Given the description of an element on the screen output the (x, y) to click on. 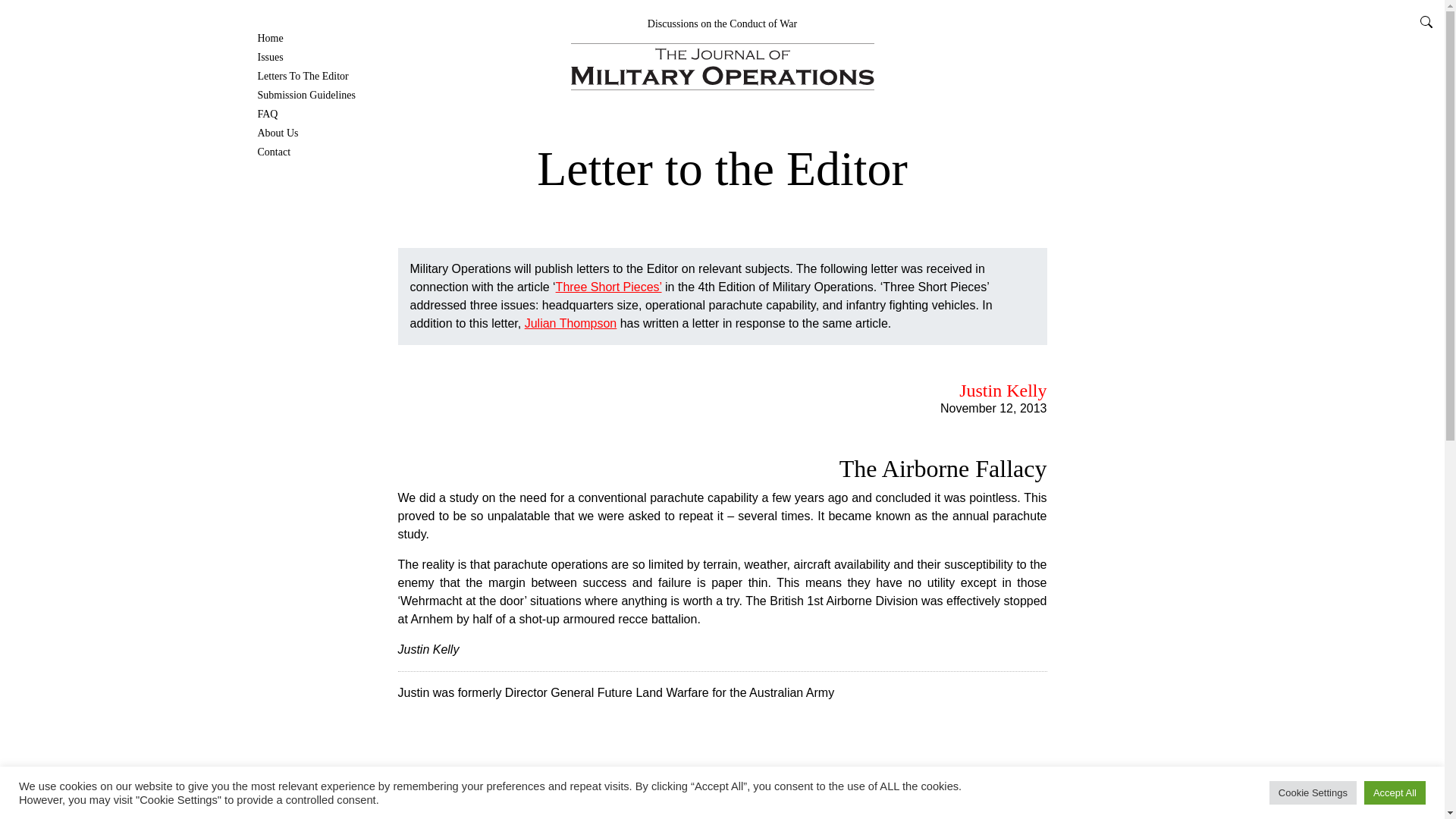
Issues (270, 57)
FAQ (267, 113)
Julian Thompson (570, 323)
Submission Guidelines (306, 94)
Home (270, 38)
Accept All (1394, 792)
About Us (277, 132)
Cookie Settings (1312, 792)
Letters To The Editor (303, 75)
Contact (274, 152)
